Given the description of an element on the screen output the (x, y) to click on. 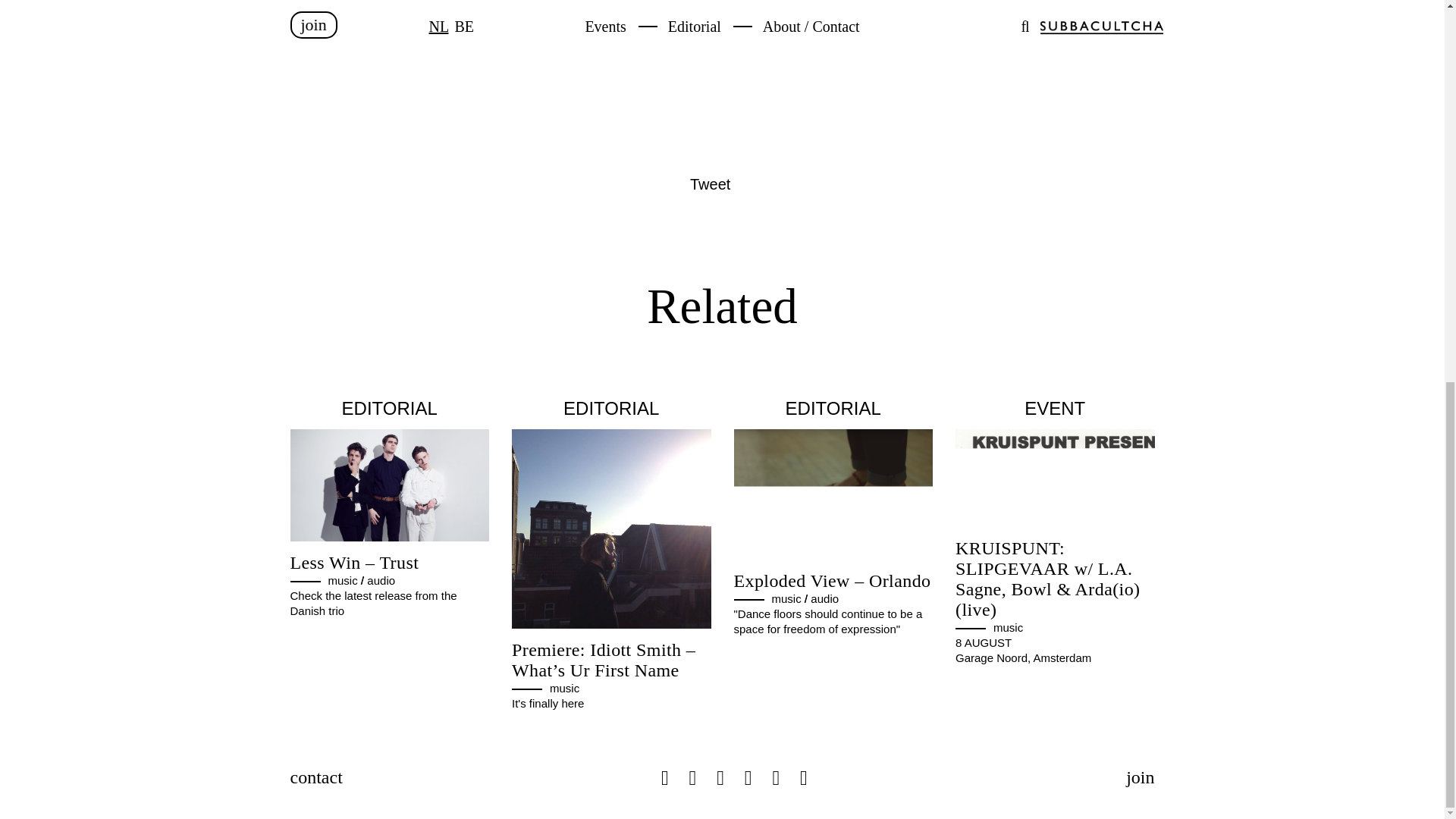
join (1139, 777)
music (564, 687)
audio (380, 580)
contact (315, 777)
Tweet (710, 184)
audio (824, 598)
music (1007, 626)
music (341, 580)
music (786, 598)
